Given the description of an element on the screen output the (x, y) to click on. 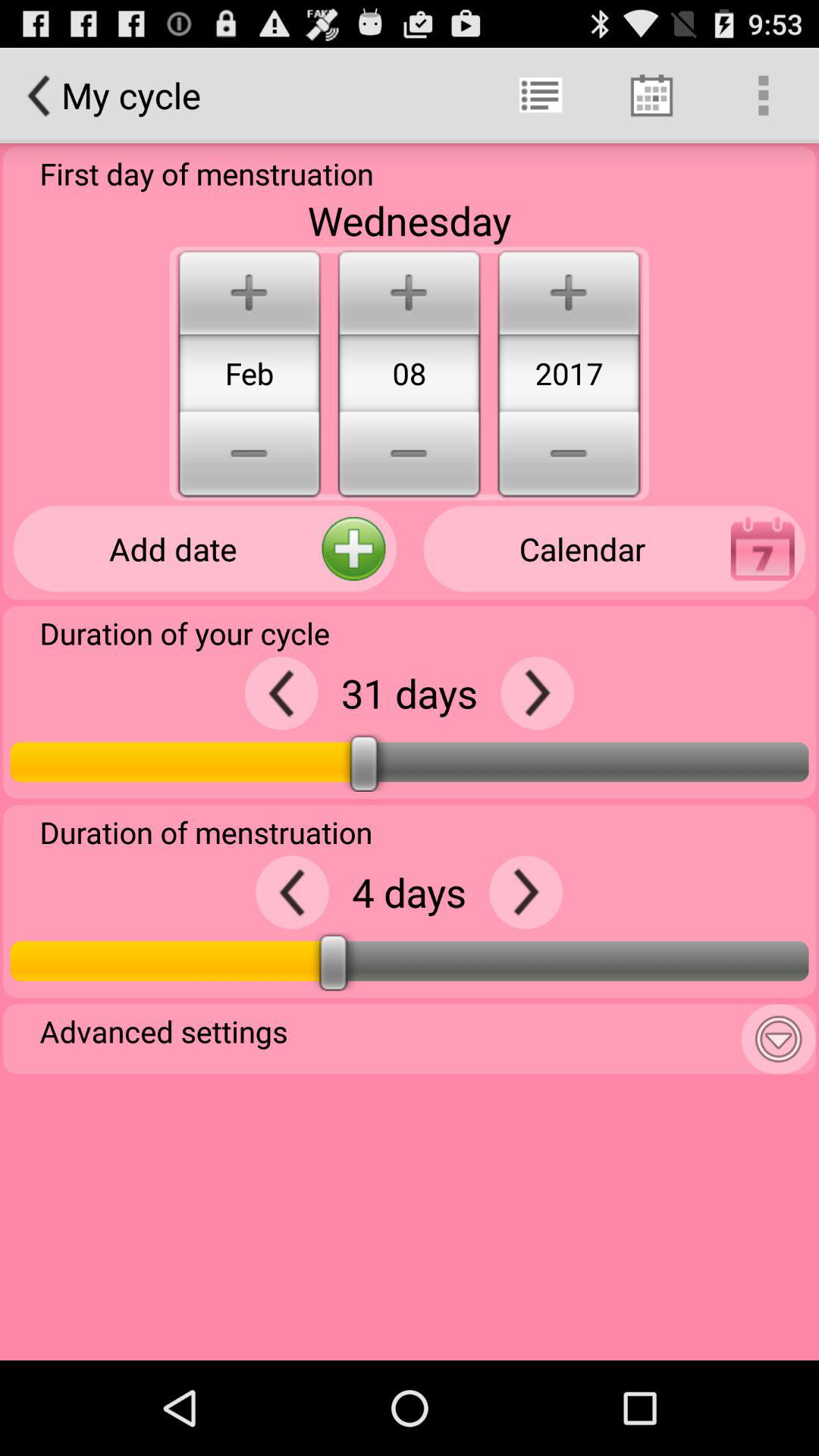
decrease days (281, 693)
